Given the description of an element on the screen output the (x, y) to click on. 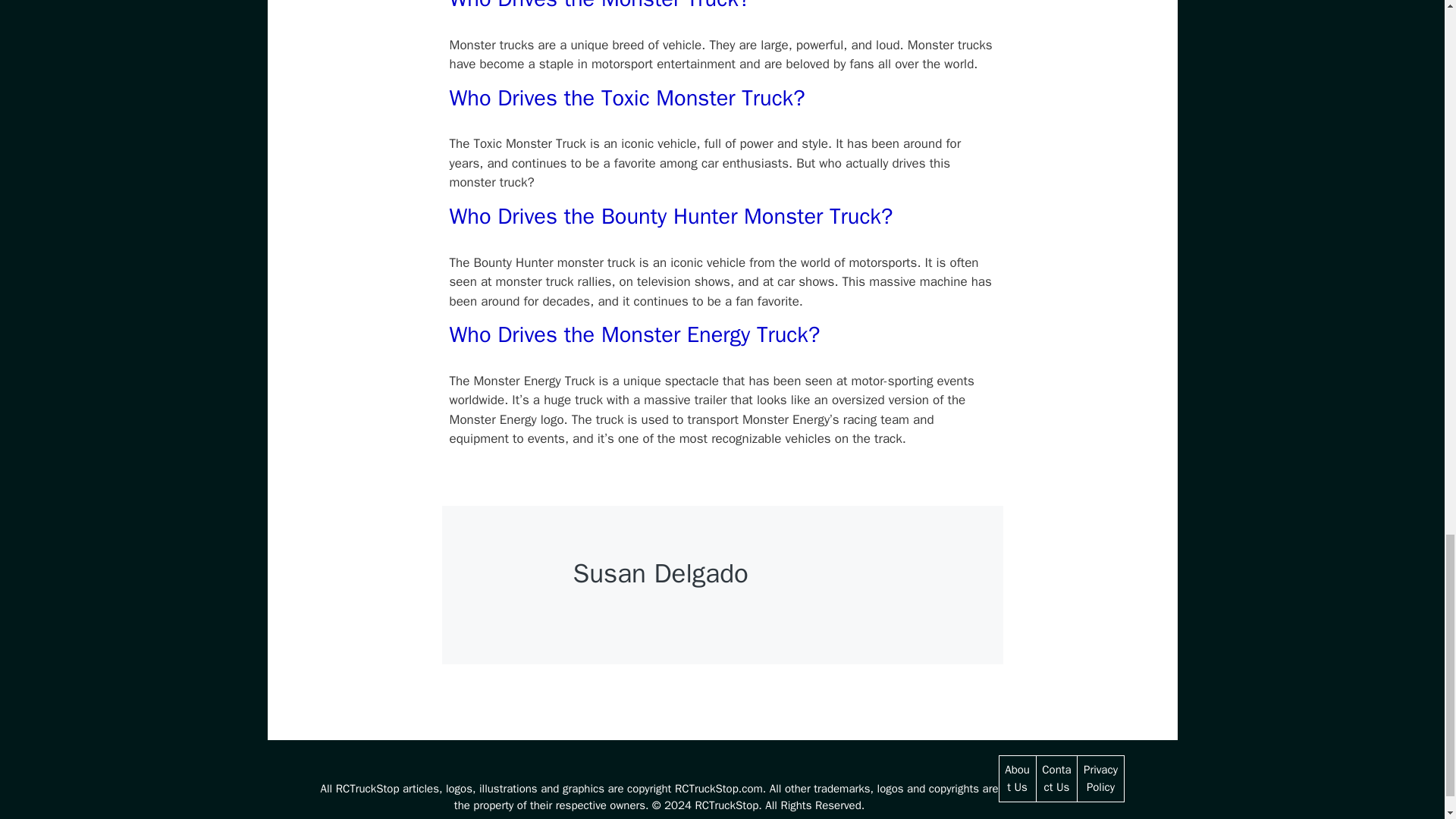
Who Drives the Monster Energy Truck? (633, 334)
Contact Us (1056, 777)
Who Drives the Toxic Monster Truck? (626, 98)
Who Drives the Monster Truck? (598, 6)
Who Drives the Bounty Hunter Monster Truck? (670, 216)
Privacy Policy (1100, 777)
